Given the description of an element on the screen output the (x, y) to click on. 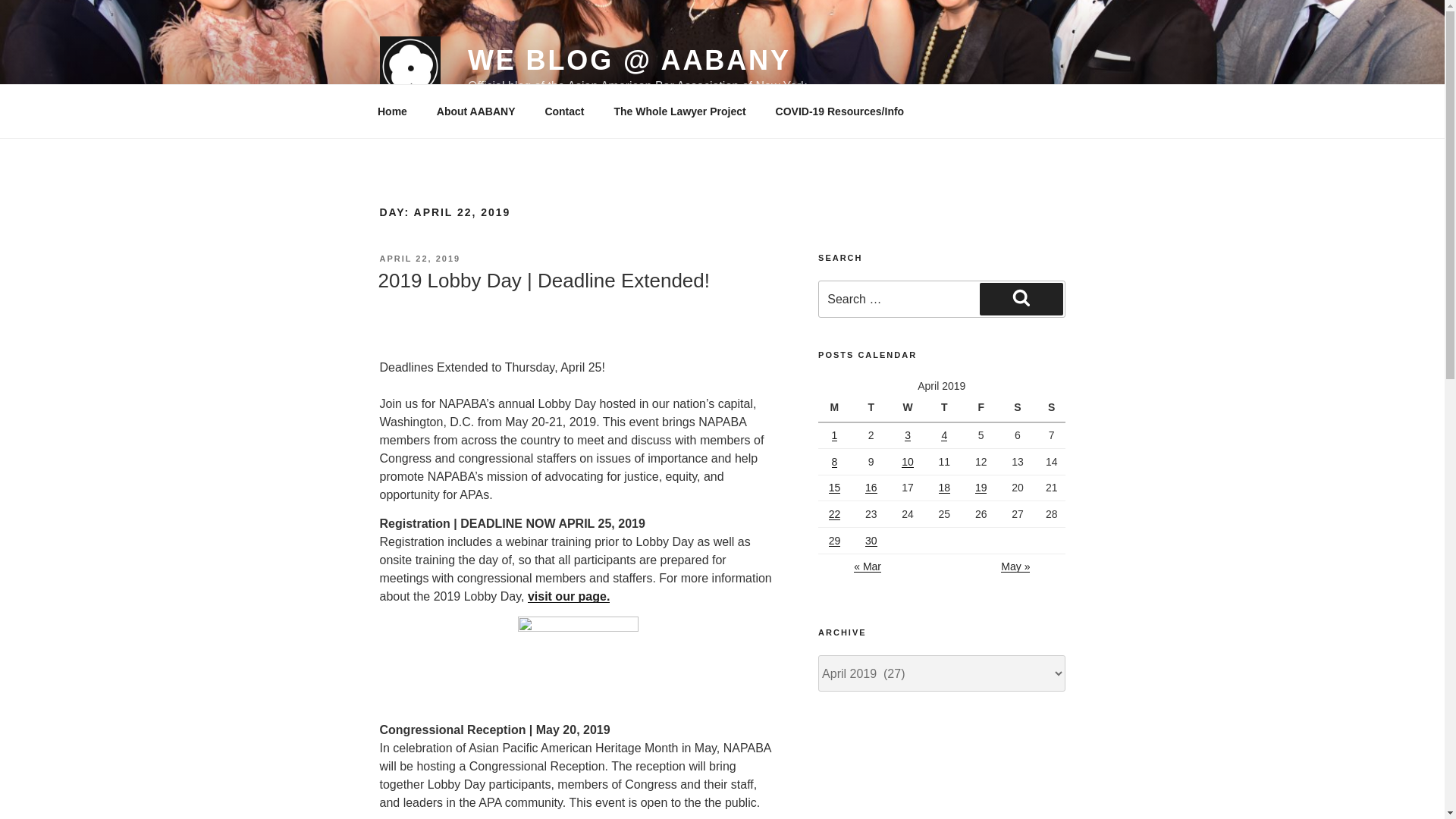
visit our page. (568, 595)
10 (907, 461)
About AABANY (475, 110)
Sunday (1051, 408)
16 (870, 487)
Saturday (1019, 408)
Contact (563, 110)
30 (870, 540)
1 (834, 435)
3 (907, 435)
Search (1020, 298)
Tuesday (872, 408)
15 (834, 487)
4 (943, 435)
Thursday (945, 408)
